Given the description of an element on the screen output the (x, y) to click on. 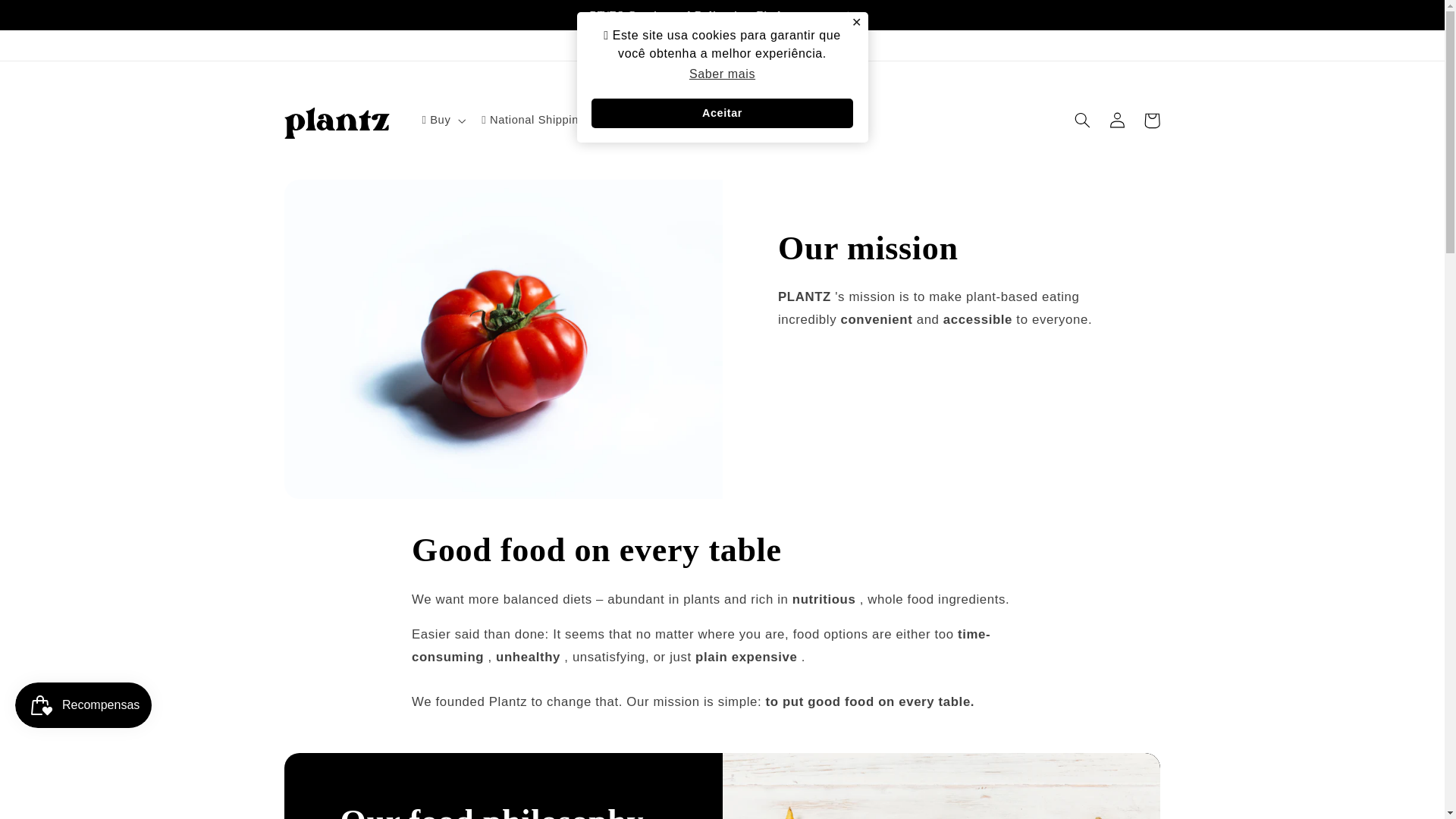
Log in (1116, 120)
Smile.io Rewards Program Launcher (82, 705)
Saber mais (722, 74)
Skip to content (48, 18)
Aceitar (722, 113)
Cart (1151, 120)
